Given the description of an element on the screen output the (x, y) to click on. 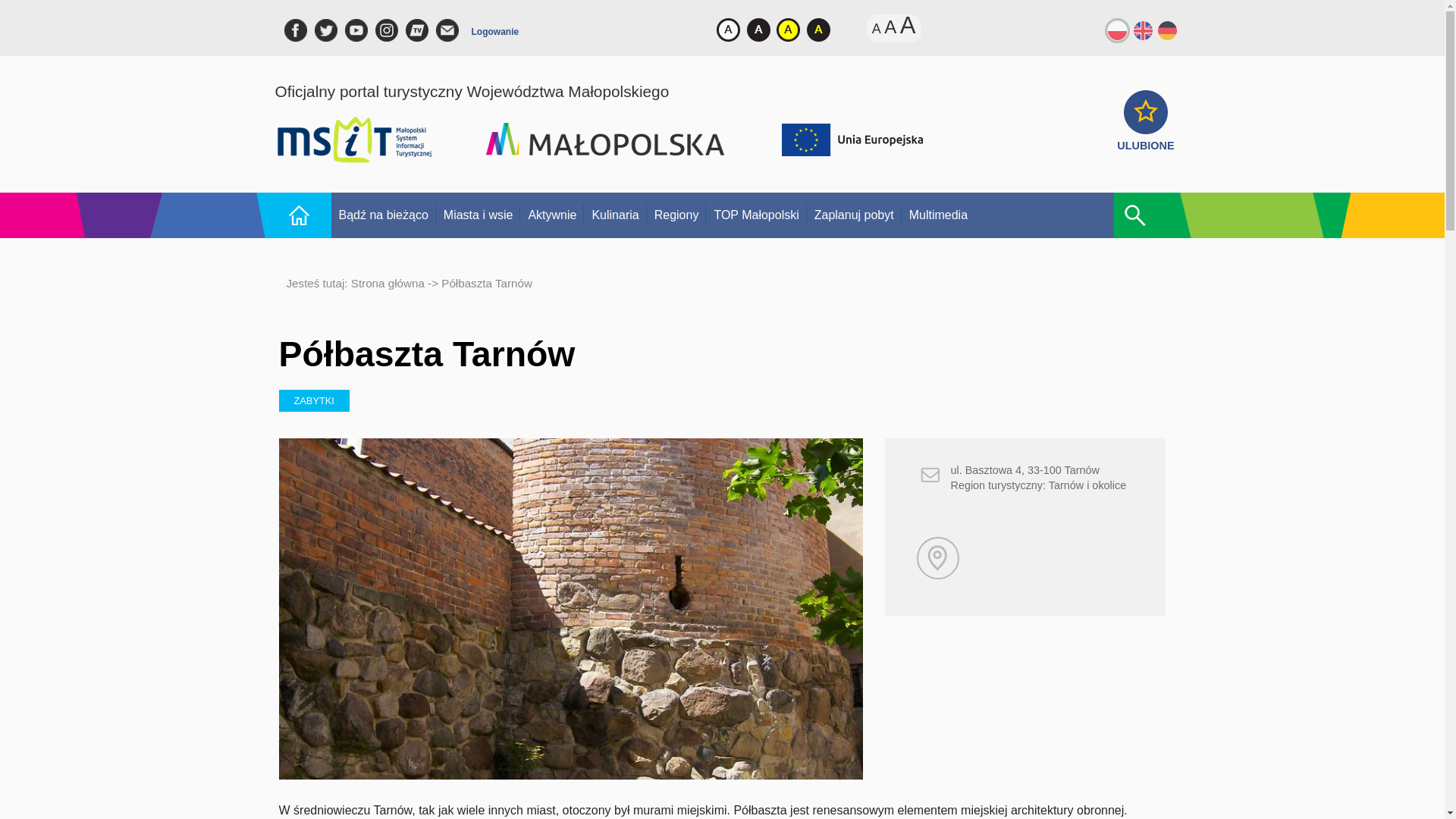
Kulinaria (614, 215)
Deutsch (1167, 29)
ULUBIONE (1144, 138)
Aktywnie (551, 215)
Logowanie (495, 35)
English (1142, 29)
Miasta i wsie (478, 215)
